Given the description of an element on the screen output the (x, y) to click on. 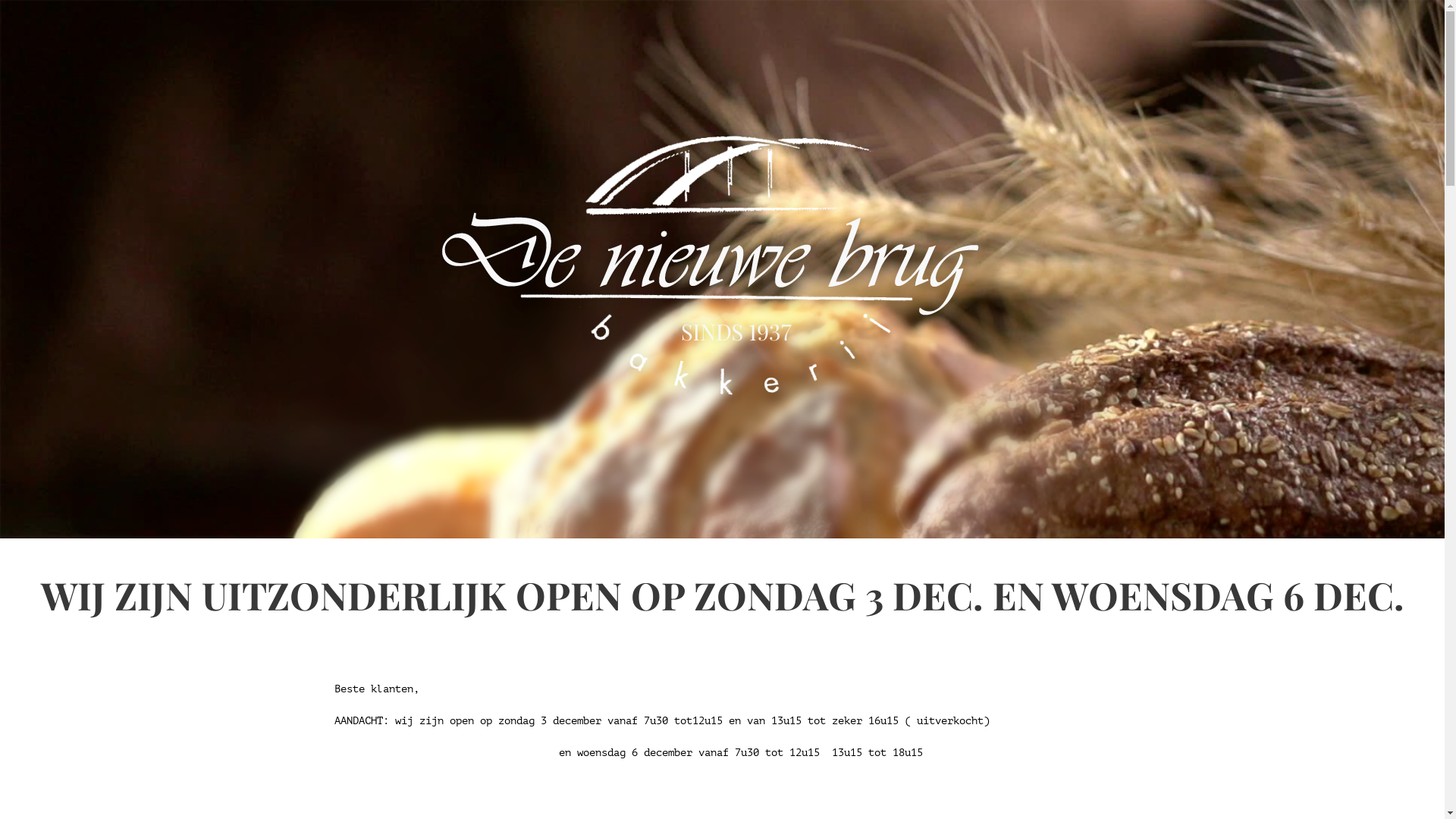
Overslaan en naar de inhoud gaan Element type: text (97, 0)
